Given the description of an element on the screen output the (x, y) to click on. 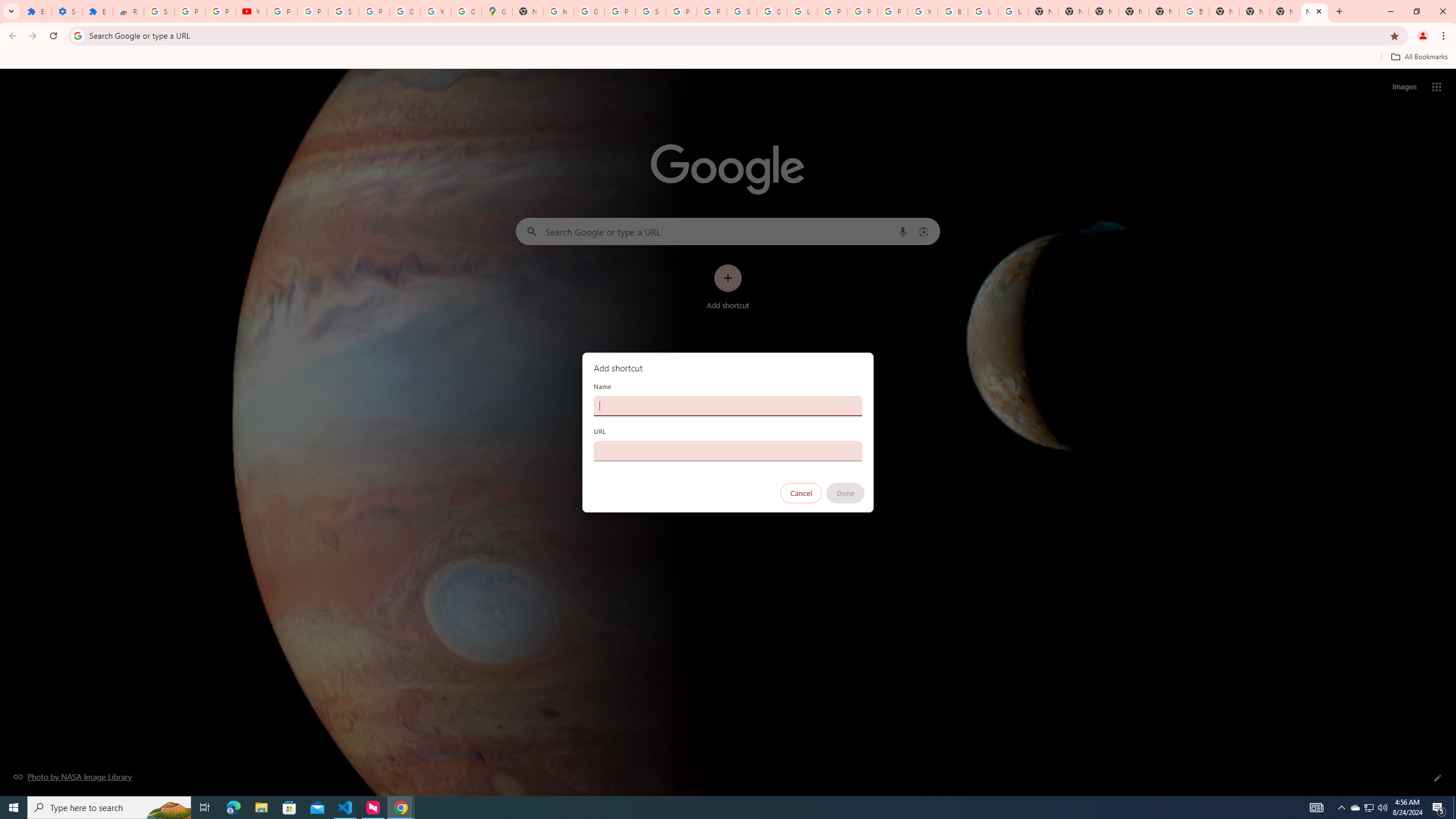
Extensions (36, 11)
Sign in - Google Accounts (343, 11)
Google Account (404, 11)
Extensions (97, 11)
